Given the description of an element on the screen output the (x, y) to click on. 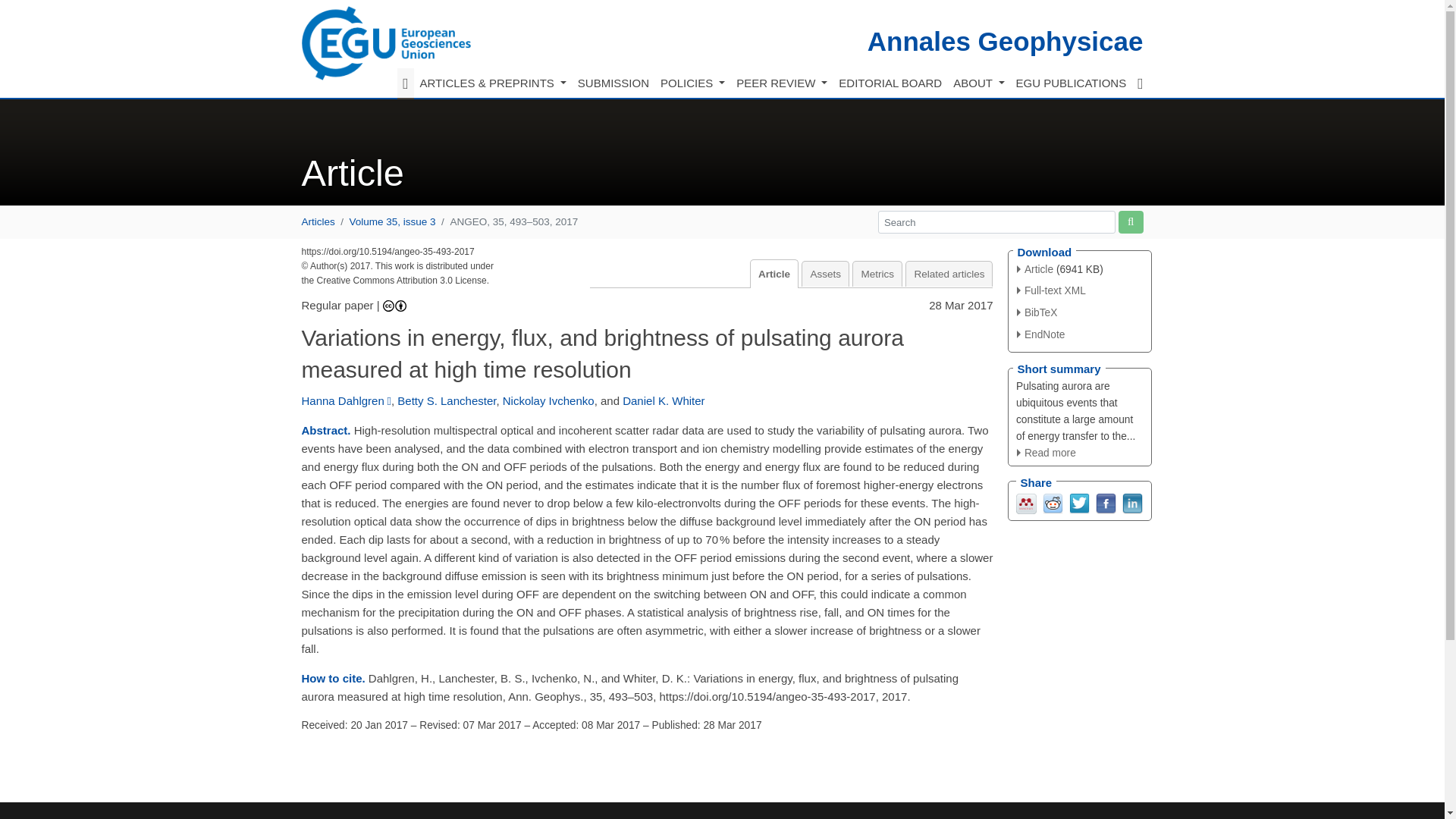
Twitter (1078, 502)
Facebook (1104, 502)
Mendeley (1026, 502)
Annales Geophysicae (1004, 41)
Start site search (1130, 221)
XML Version (1051, 290)
PEER REVIEW (781, 83)
EDITORIAL BOARD (889, 83)
SUBMISSION (612, 83)
POLICIES (691, 83)
